Given the description of an element on the screen output the (x, y) to click on. 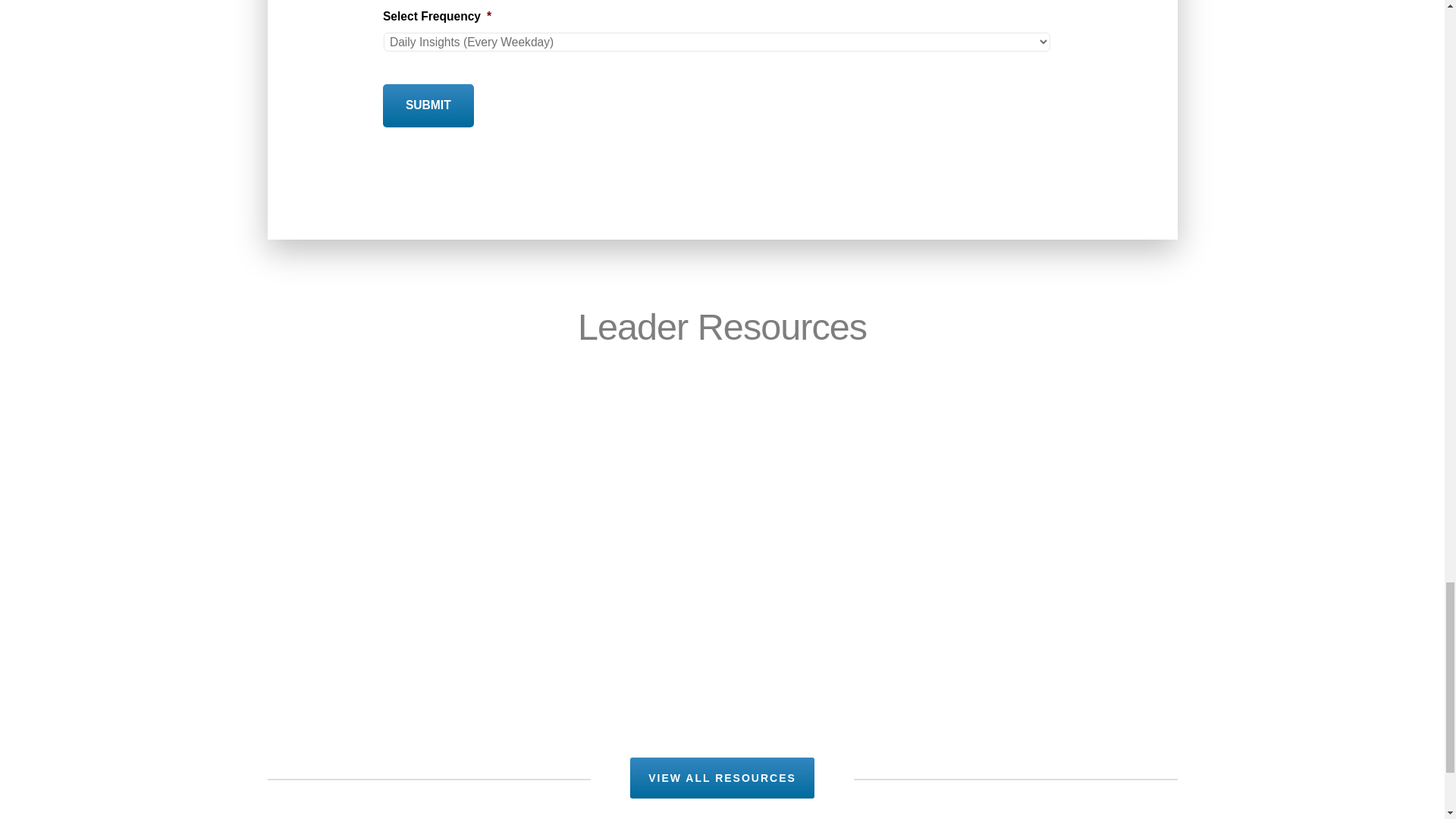
Submit (428, 105)
